Given the description of an element on the screen output the (x, y) to click on. 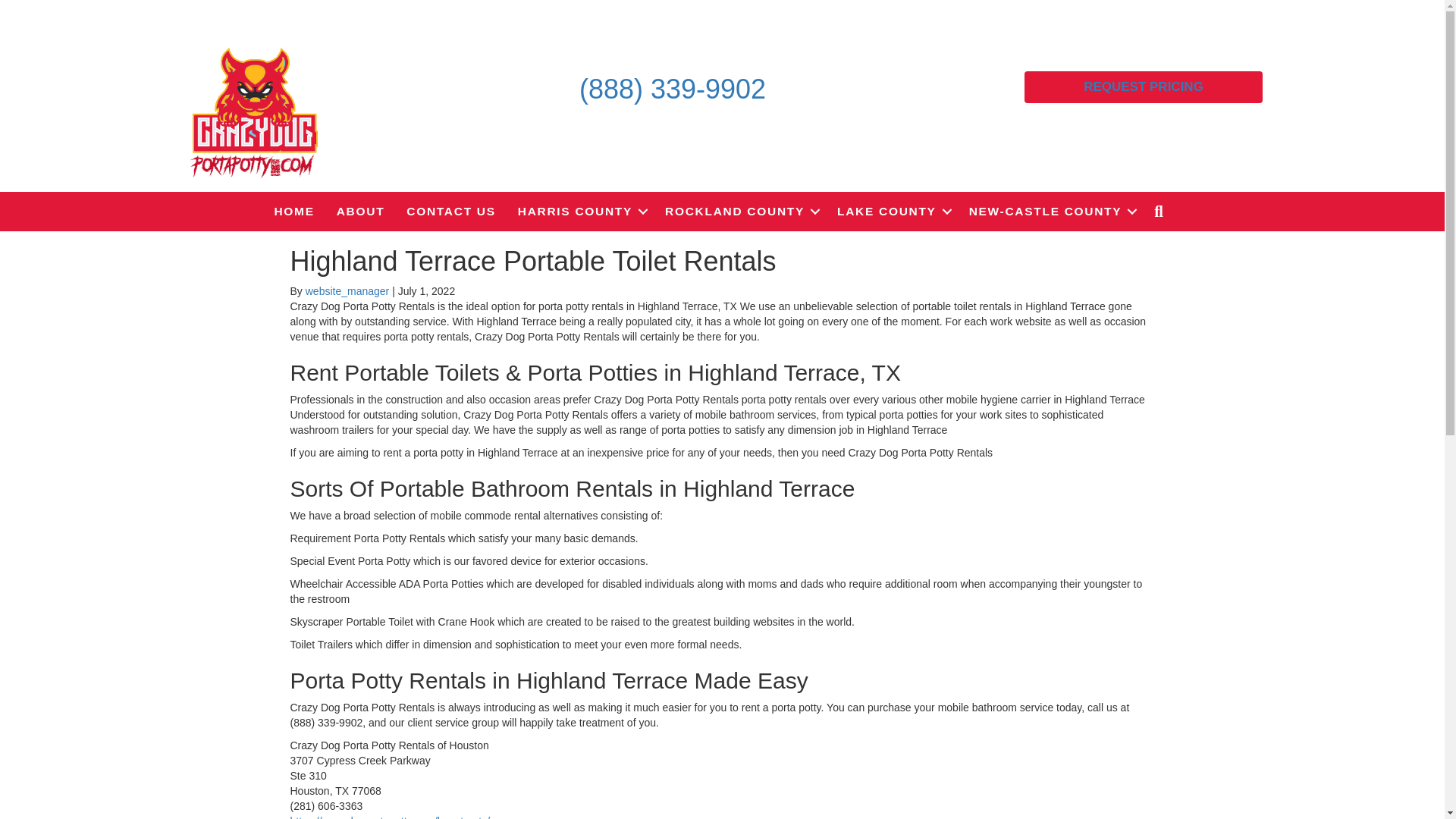
crazydogportapotty (253, 112)
ROCKLAND COUNTY (739, 211)
Skip to content (34, 6)
LAKE COUNTY (892, 211)
CONTACT US (450, 211)
HARRIS COUNTY (579, 211)
REQUEST PRICING (1144, 87)
ABOUT (361, 211)
NEW-CASTLE COUNTY (1050, 211)
HOME (293, 211)
